Given the description of an element on the screen output the (x, y) to click on. 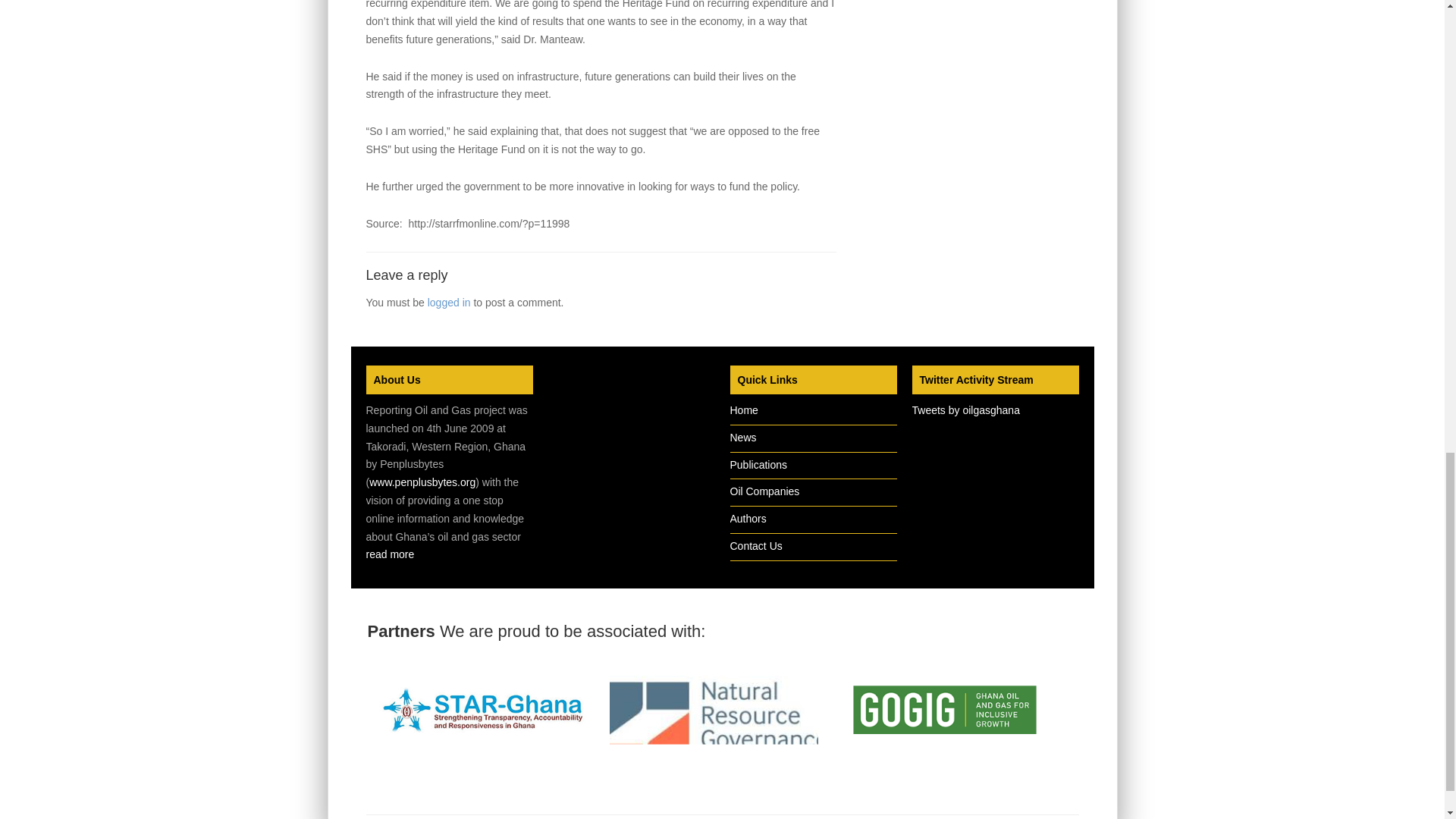
Oil Companies (764, 491)
read more (389, 553)
www.penplusbytes.org (422, 481)
Contact Us (755, 545)
Tweets by oilgasghana (965, 410)
logged in (449, 302)
Home (743, 410)
Publications (758, 464)
Authors (747, 518)
News (742, 437)
